Given the description of an element on the screen output the (x, y) to click on. 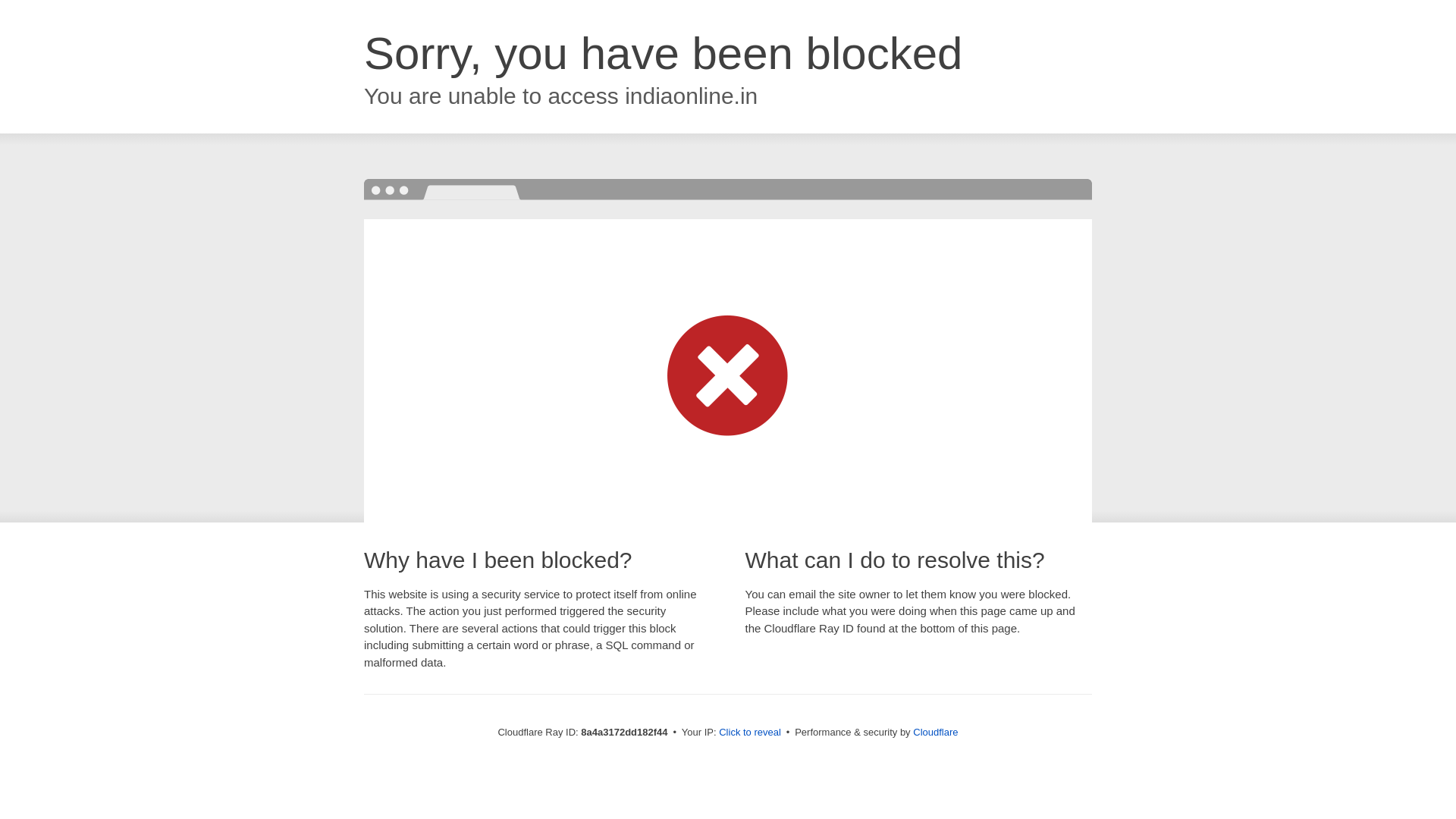
Click to reveal (749, 732)
Cloudflare (935, 731)
